Given the description of an element on the screen output the (x, y) to click on. 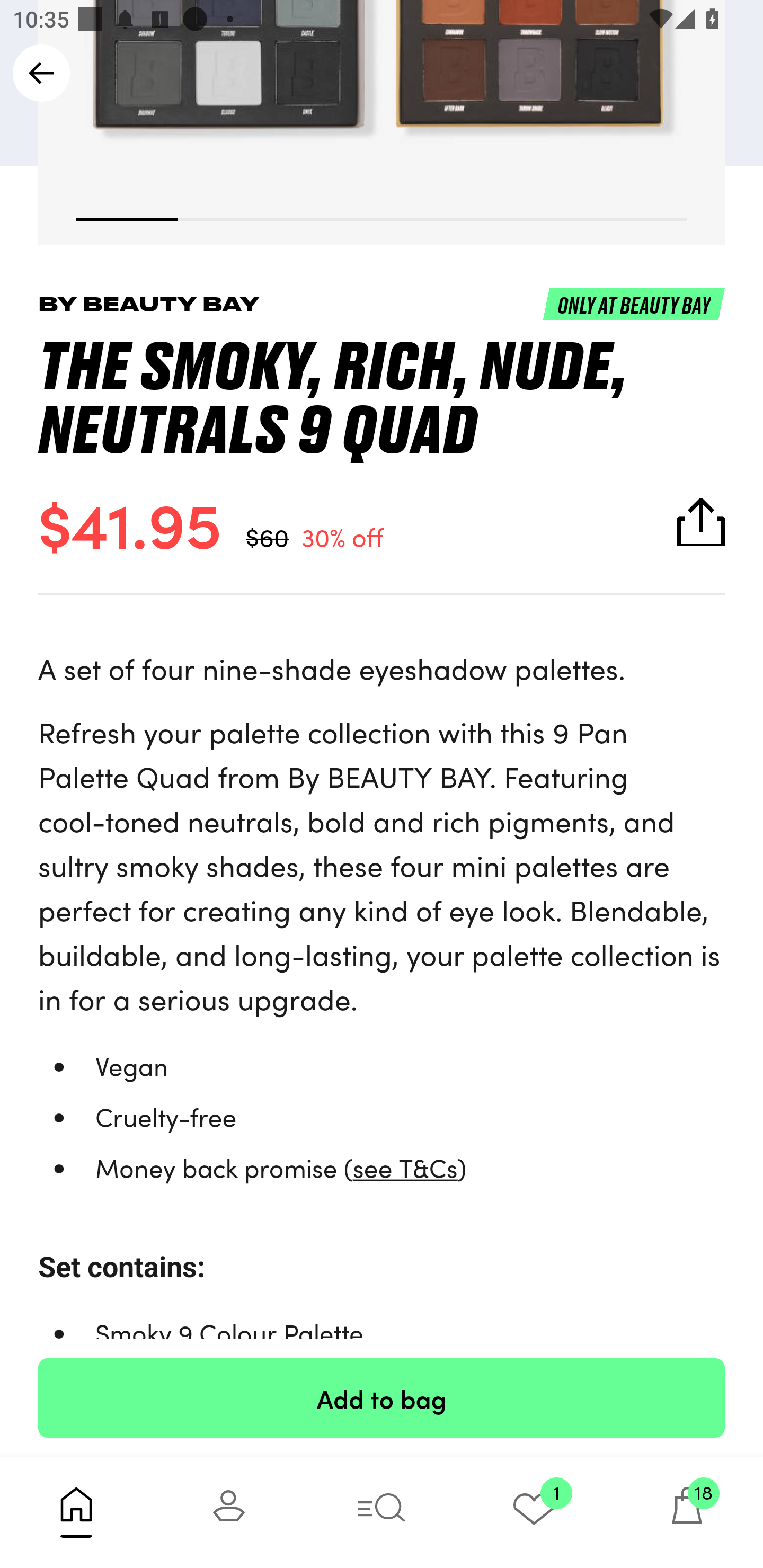
Add to bag (381, 1397)
1 (533, 1512)
18 (686, 1512)
